Given the description of an element on the screen output the (x, y) to click on. 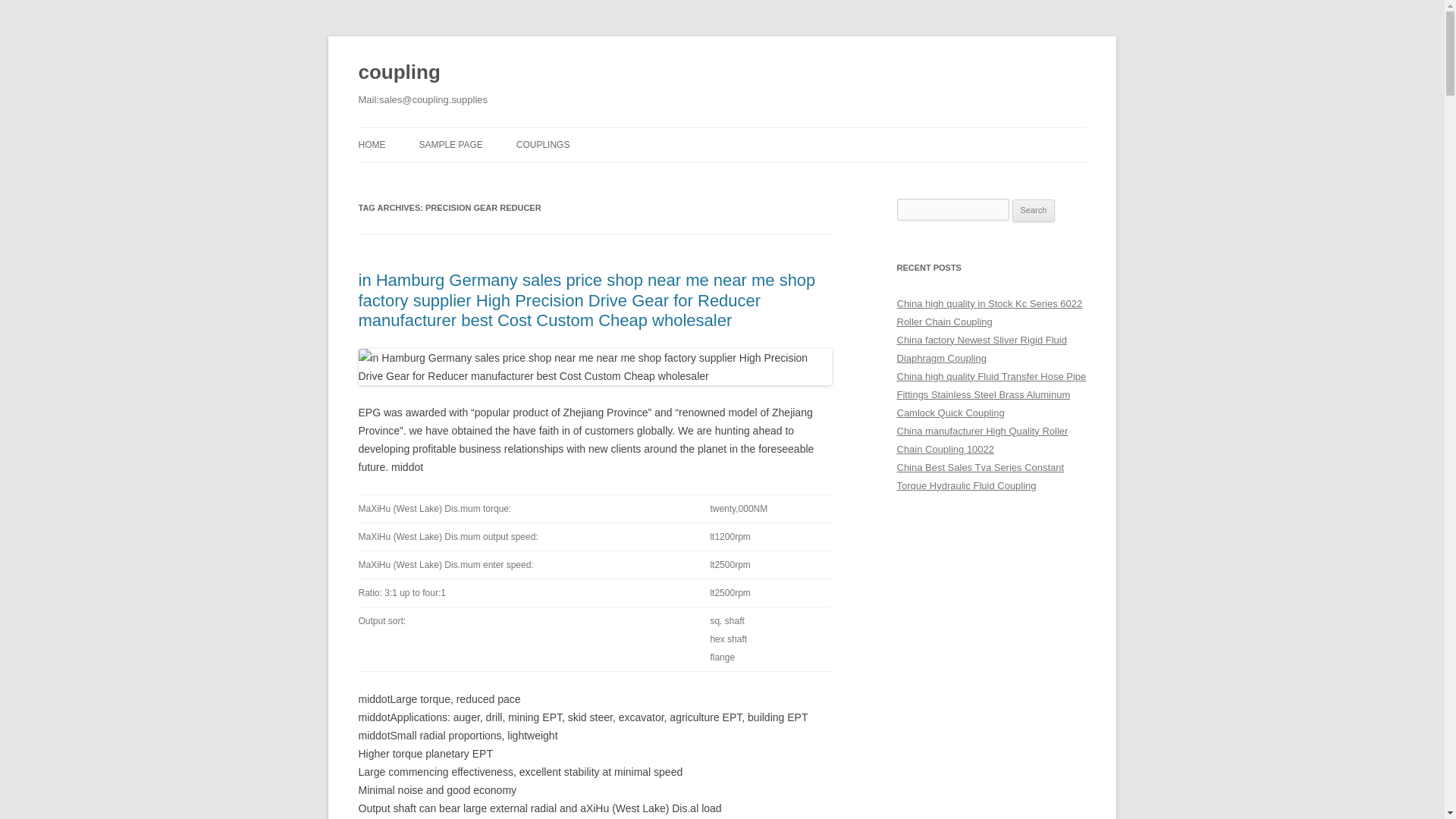
Search (1033, 210)
SAMPLE PAGE (450, 144)
coupling (398, 72)
coupling (398, 72)
COUPLINGS (543, 144)
